Given the description of an element on the screen output the (x, y) to click on. 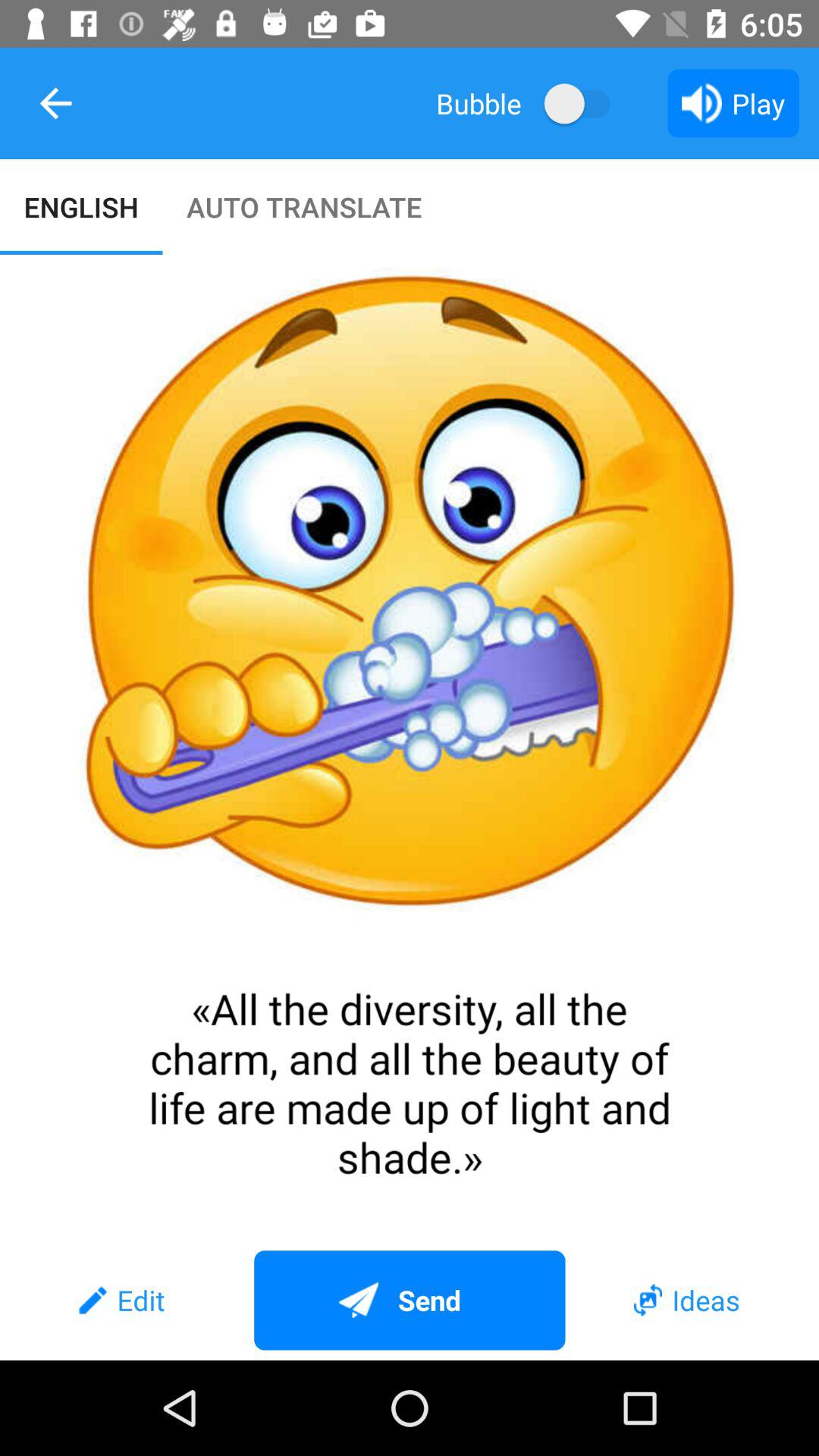
slider bar on and off (584, 103)
